Given the description of an element on the screen output the (x, y) to click on. 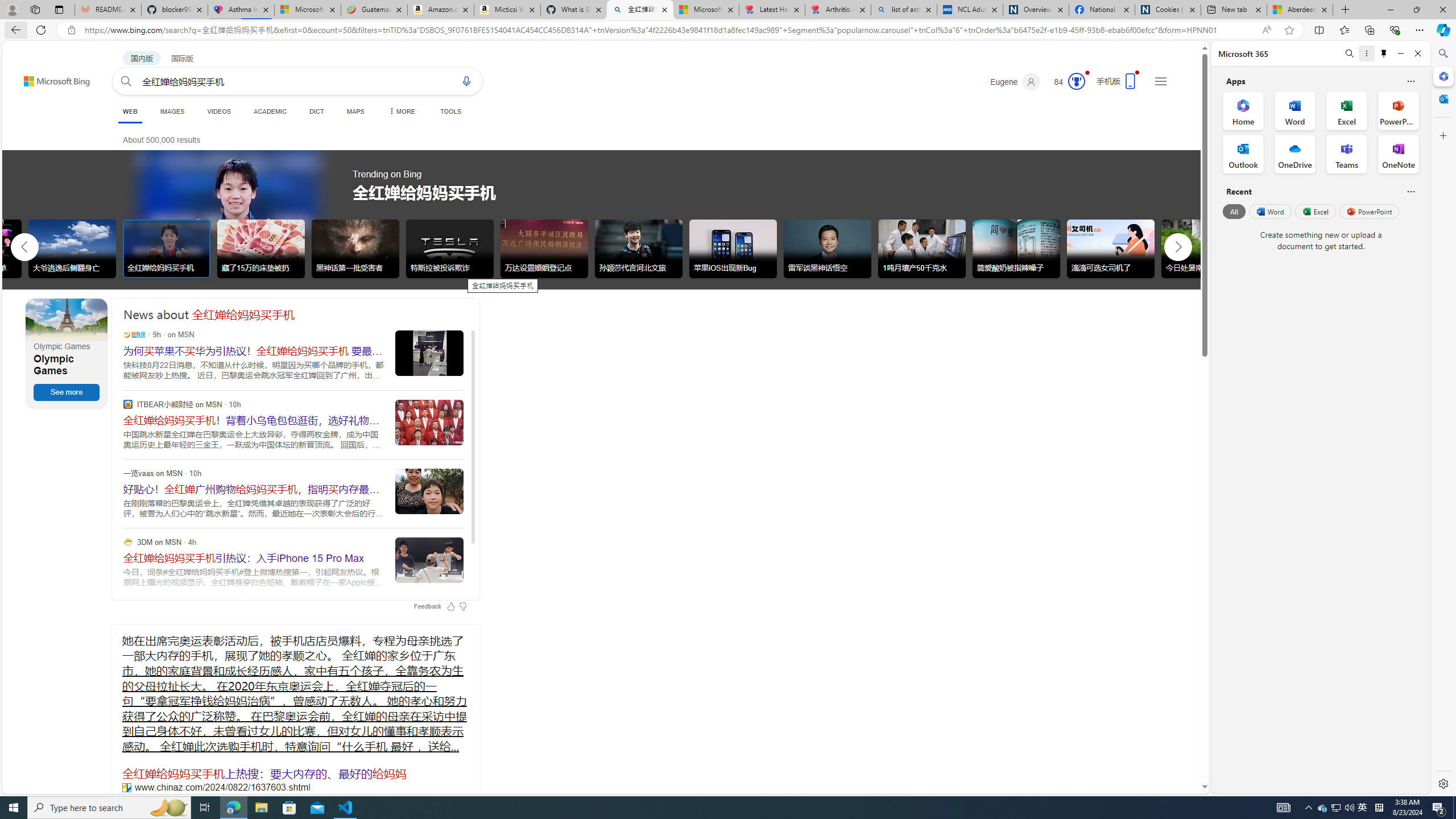
Address and search bar (669, 29)
Skip to content (35, 76)
IMAGES (172, 111)
App bar (728, 29)
Feedback Dislike (462, 605)
Click to scroll right (1177, 246)
